Given the description of an element on the screen output the (x, y) to click on. 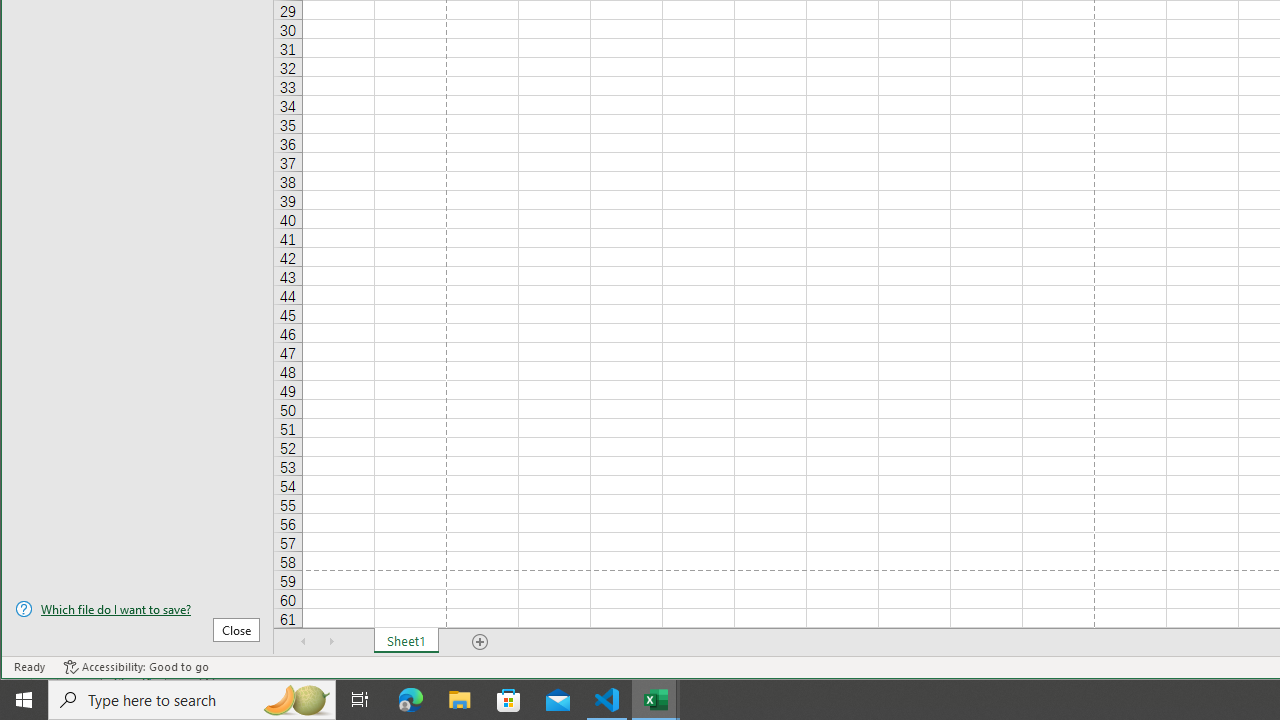
Excel - 2 running windows (656, 699)
File Explorer (460, 699)
